Given the description of an element on the screen output the (x, y) to click on. 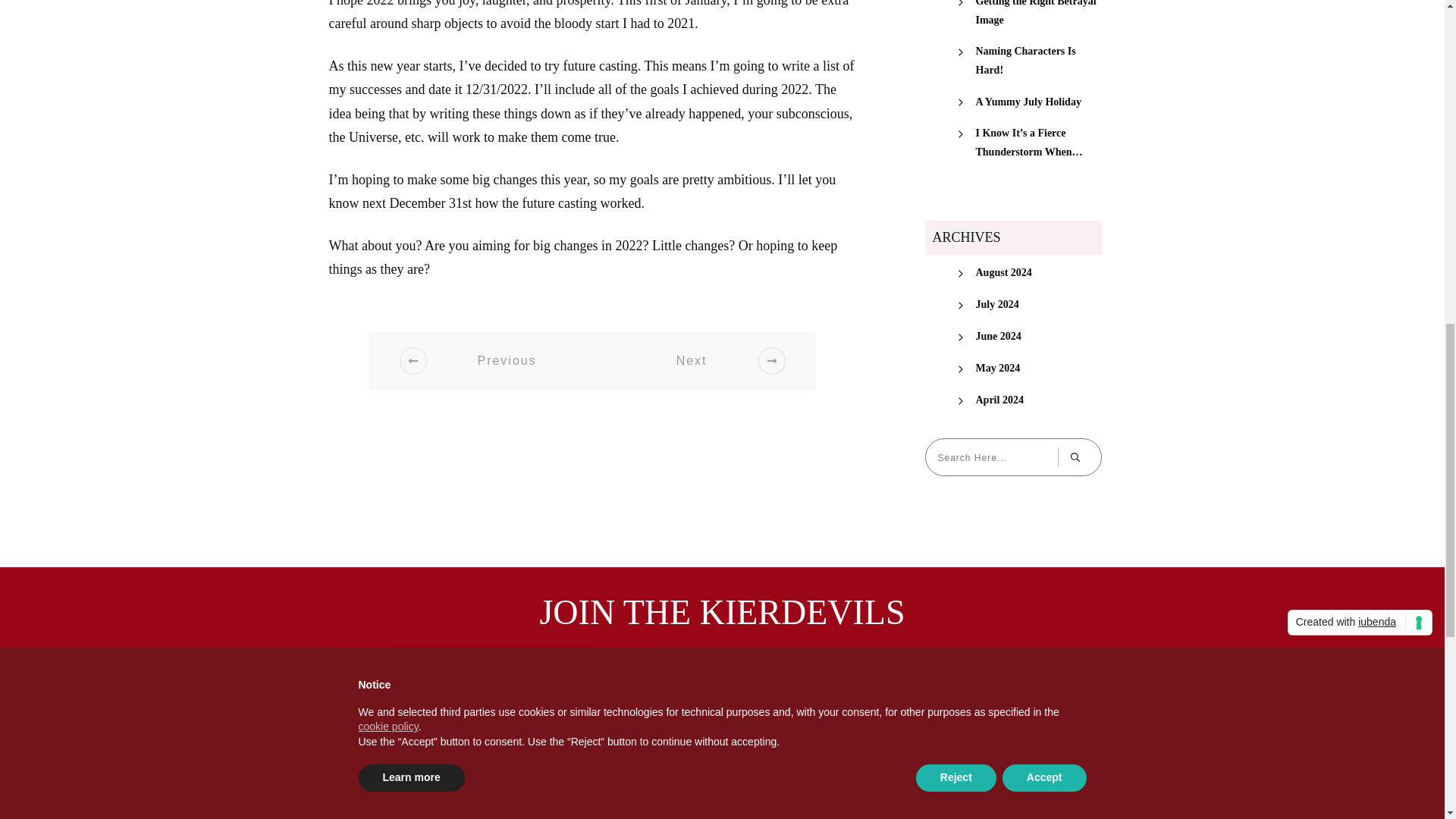
August 2024 (1002, 271)
Getting the Right Betrayal Image (1037, 14)
Previous (486, 360)
June 2024 (997, 335)
A Yummy July Holiday (1027, 101)
April 2024 (999, 399)
Naming Characters Is Hard! (1037, 60)
May 2024 (997, 367)
Next (711, 360)
July 2024 (996, 303)
